Given the description of an element on the screen output the (x, y) to click on. 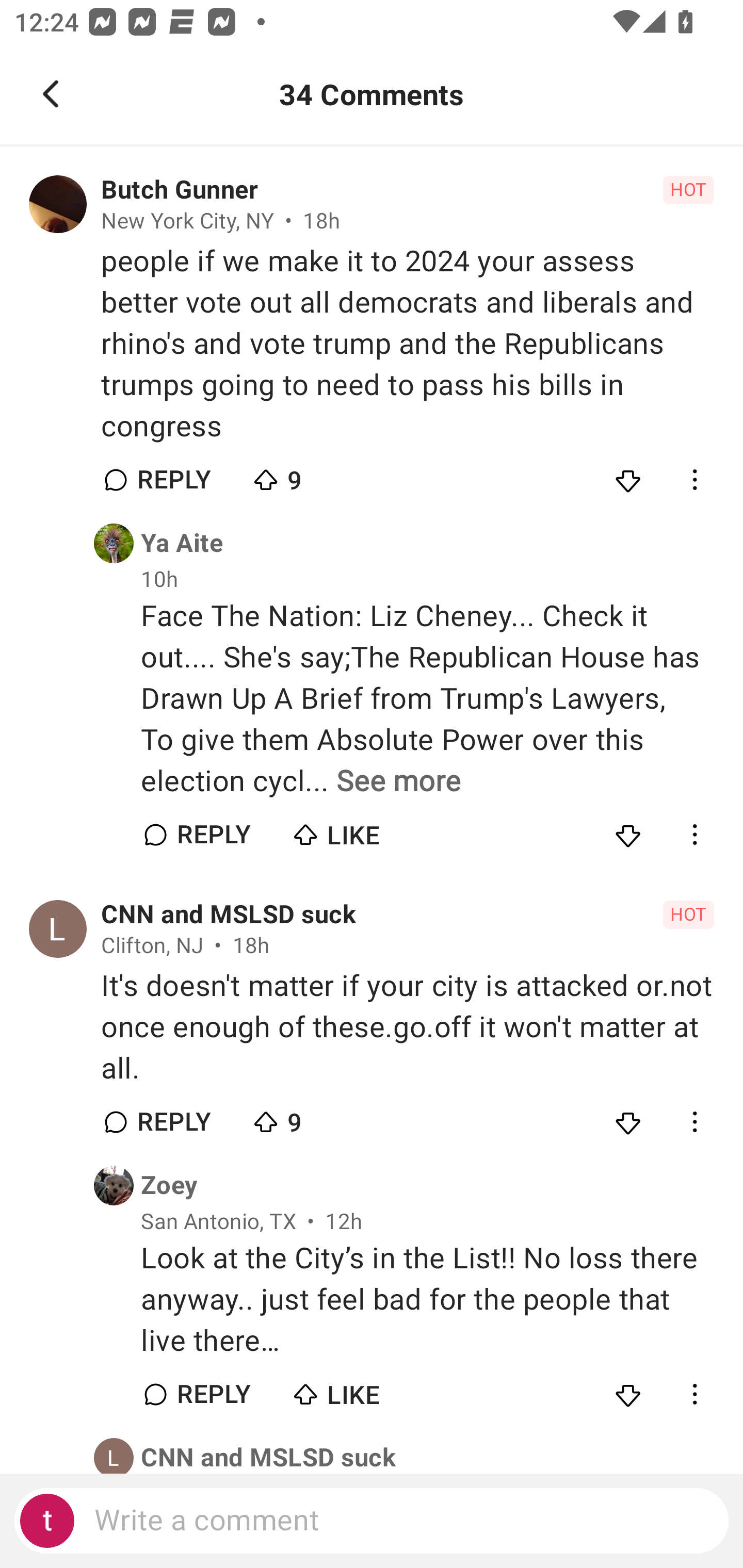
Navigate up (50, 93)
Butch Gunner (179, 190)
9 (320, 475)
REPLY (173, 480)
Ya Aite (181, 543)
LIKE (360, 830)
REPLY (213, 834)
CNN and MSLSD suck (228, 914)
9 (320, 1117)
REPLY (173, 1121)
Zoey (169, 1185)
LIKE (360, 1389)
REPLY (213, 1394)
CNN and MSLSD suck (268, 1457)
Write a comment (371, 1520)
